Given the description of an element on the screen output the (x, y) to click on. 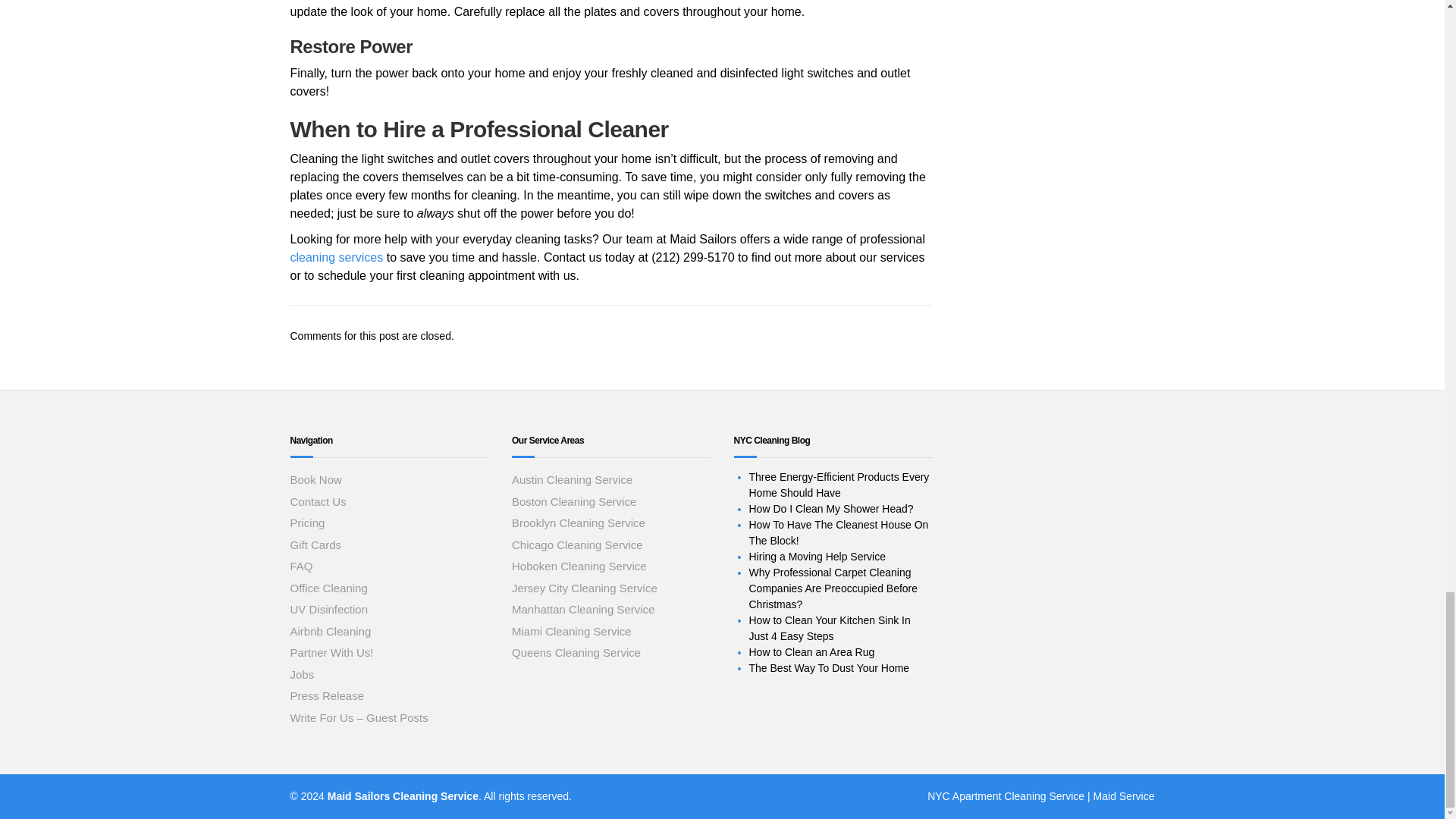
cleaning services (335, 256)
